Given the description of an element on the screen output the (x, y) to click on. 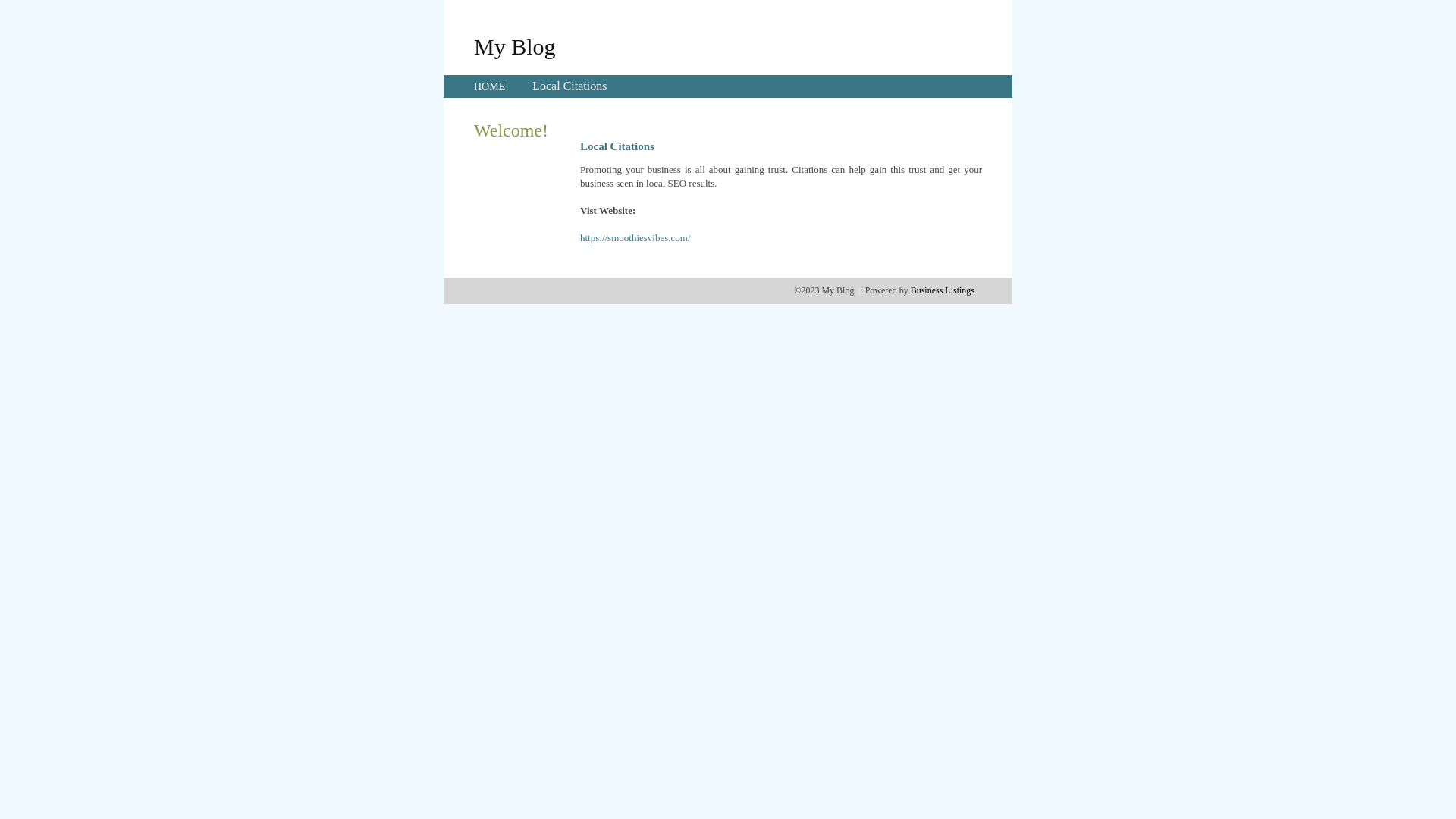
Business Listings Element type: text (942, 290)
My Blog Element type: text (514, 46)
https://smoothiesvibes.com/ Element type: text (635, 237)
Local Citations Element type: text (569, 85)
HOME Element type: text (489, 86)
